Given the description of an element on the screen output the (x, y) to click on. 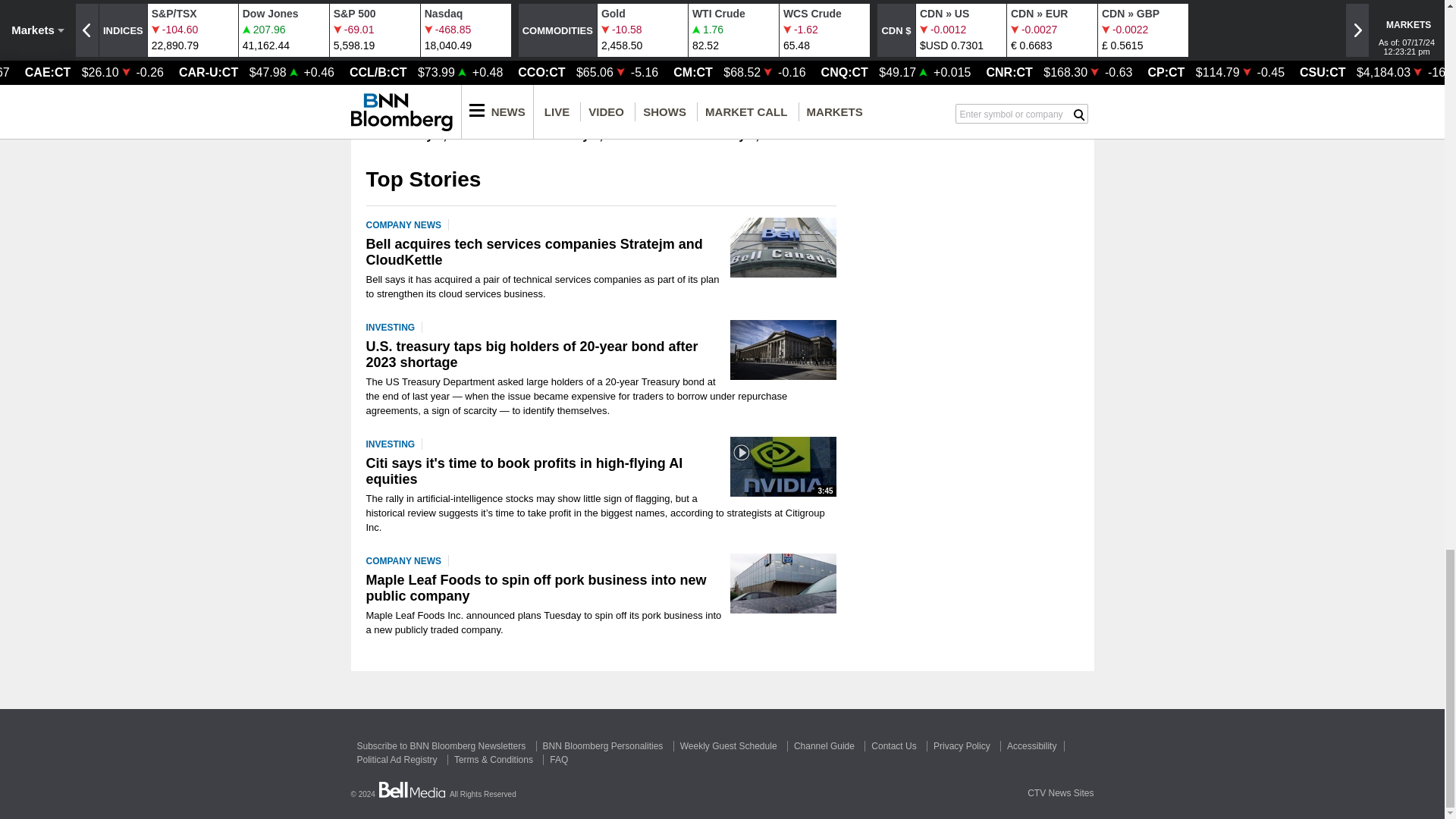
Nvidia sign (782, 466)
Bell signage (782, 247)
